Given the description of an element on the screen output the (x, y) to click on. 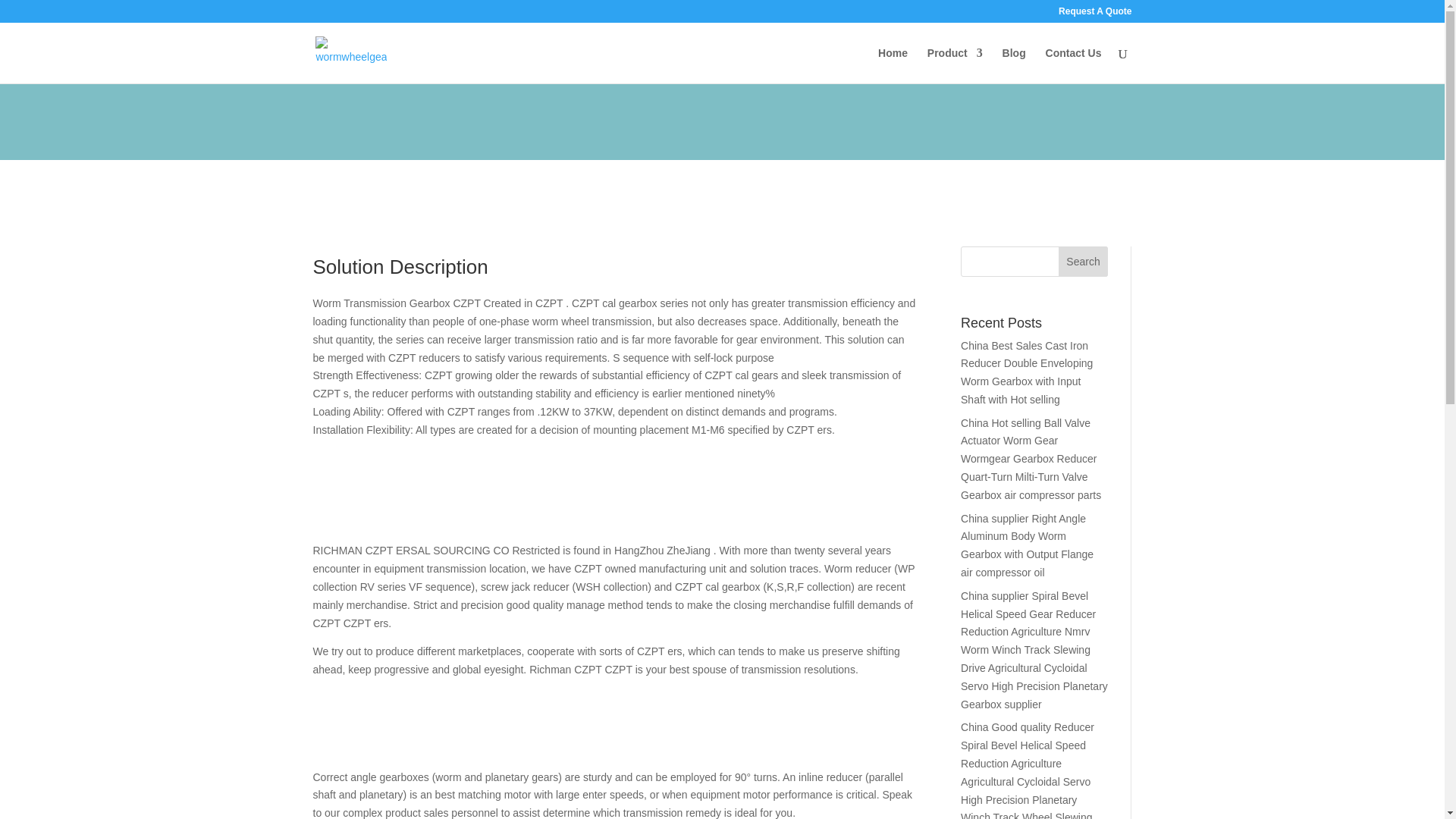
Search (1083, 261)
Search (1083, 261)
Product (954, 65)
Contact Us (1073, 65)
Request A Quote (1094, 14)
